Given the description of an element on the screen output the (x, y) to click on. 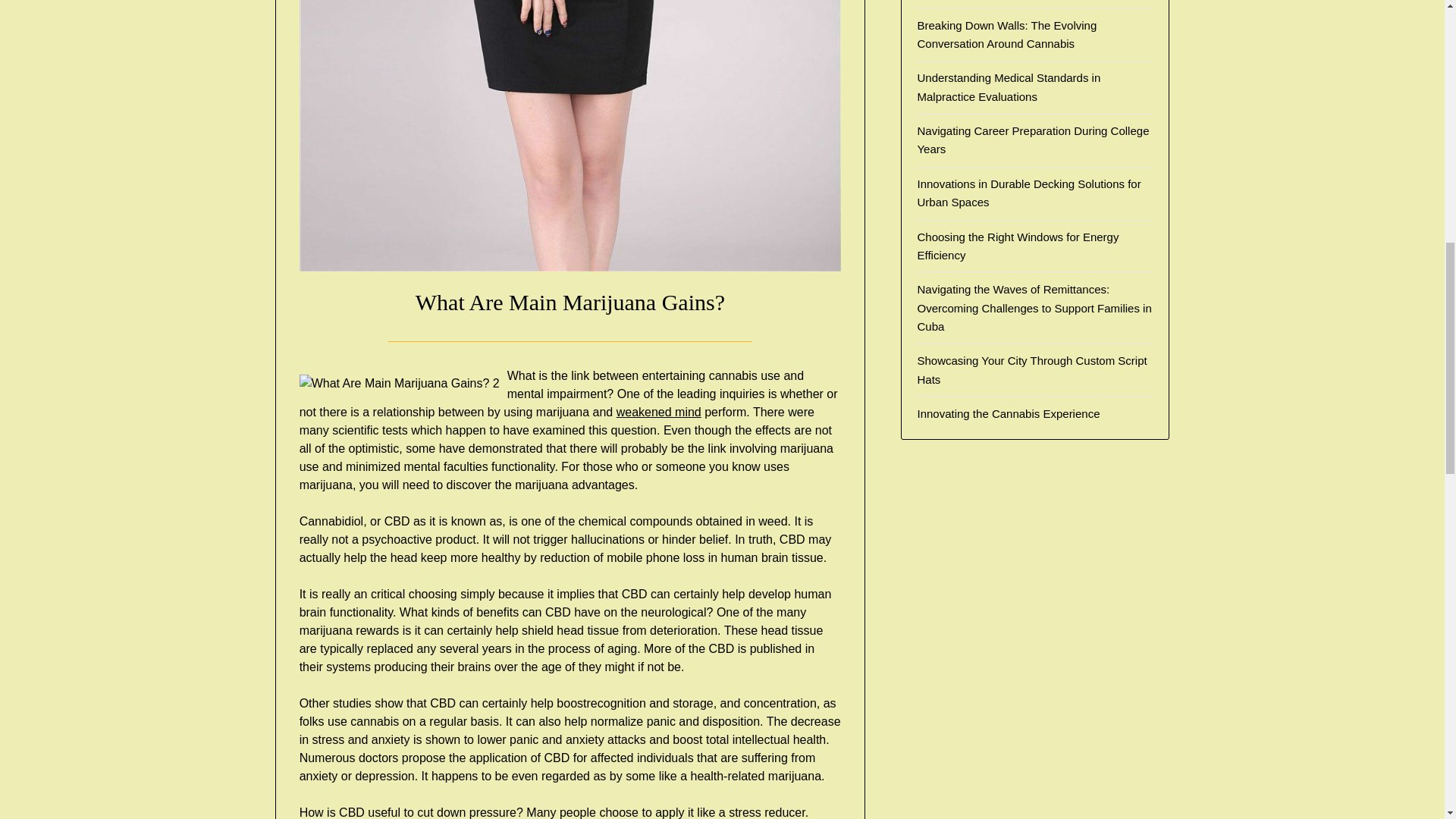
Innovations in Durable Decking Solutions for Urban Spaces (1028, 192)
weakened mind (658, 411)
Understanding Medical Standards in Malpractice Evaluations (1008, 86)
Choosing the Right Windows for Energy Efficiency (1017, 245)
Innovating the Cannabis Experience (1008, 413)
Showcasing Your City Through Custom Script Hats (1032, 368)
Navigating Career Preparation During College Years (1032, 139)
